Given the description of an element on the screen output the (x, y) to click on. 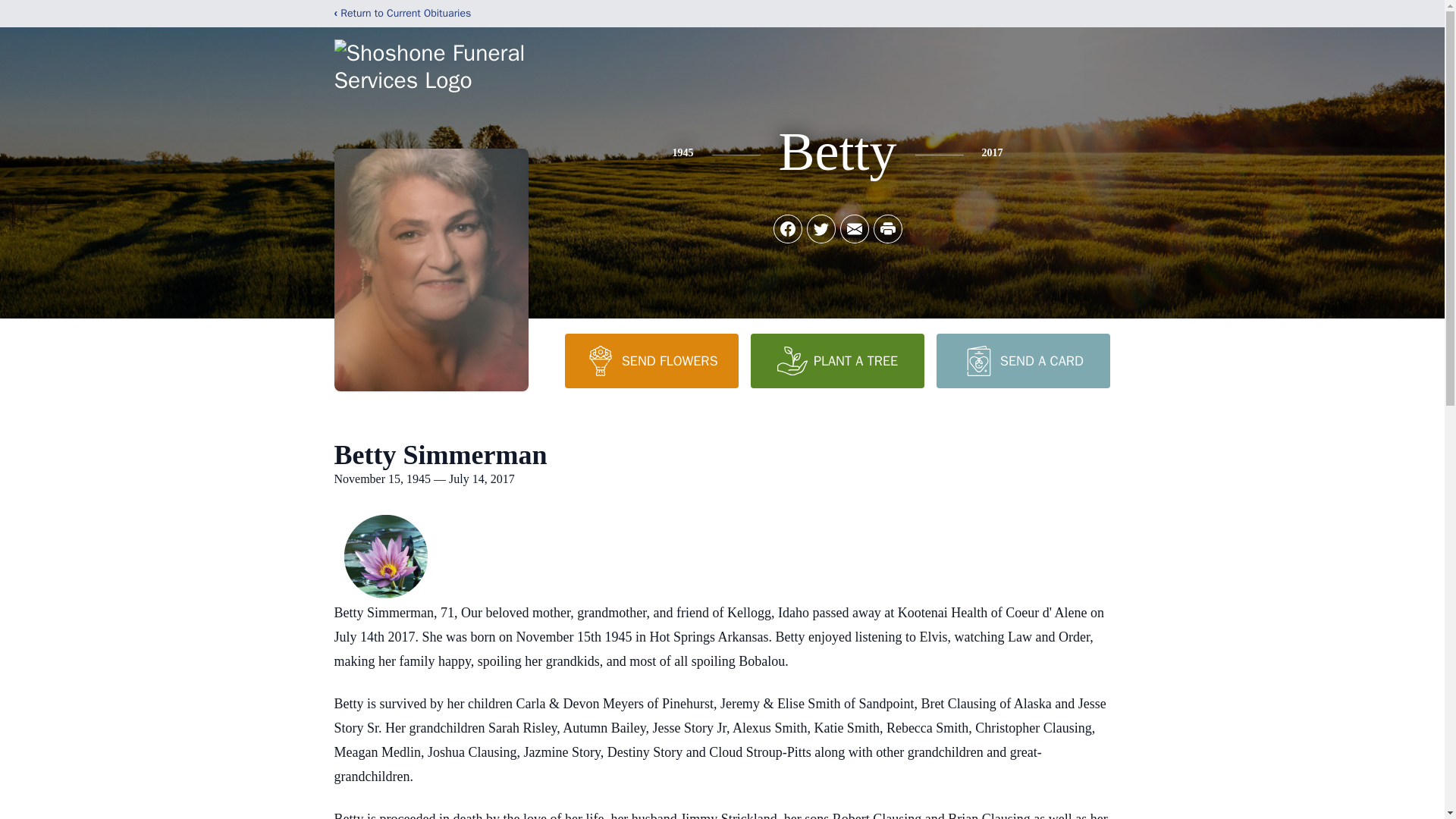
SEND FLOWERS (651, 360)
PLANT A TREE (837, 360)
SEND A CARD (1022, 360)
